Given the description of an element on the screen output the (x, y) to click on. 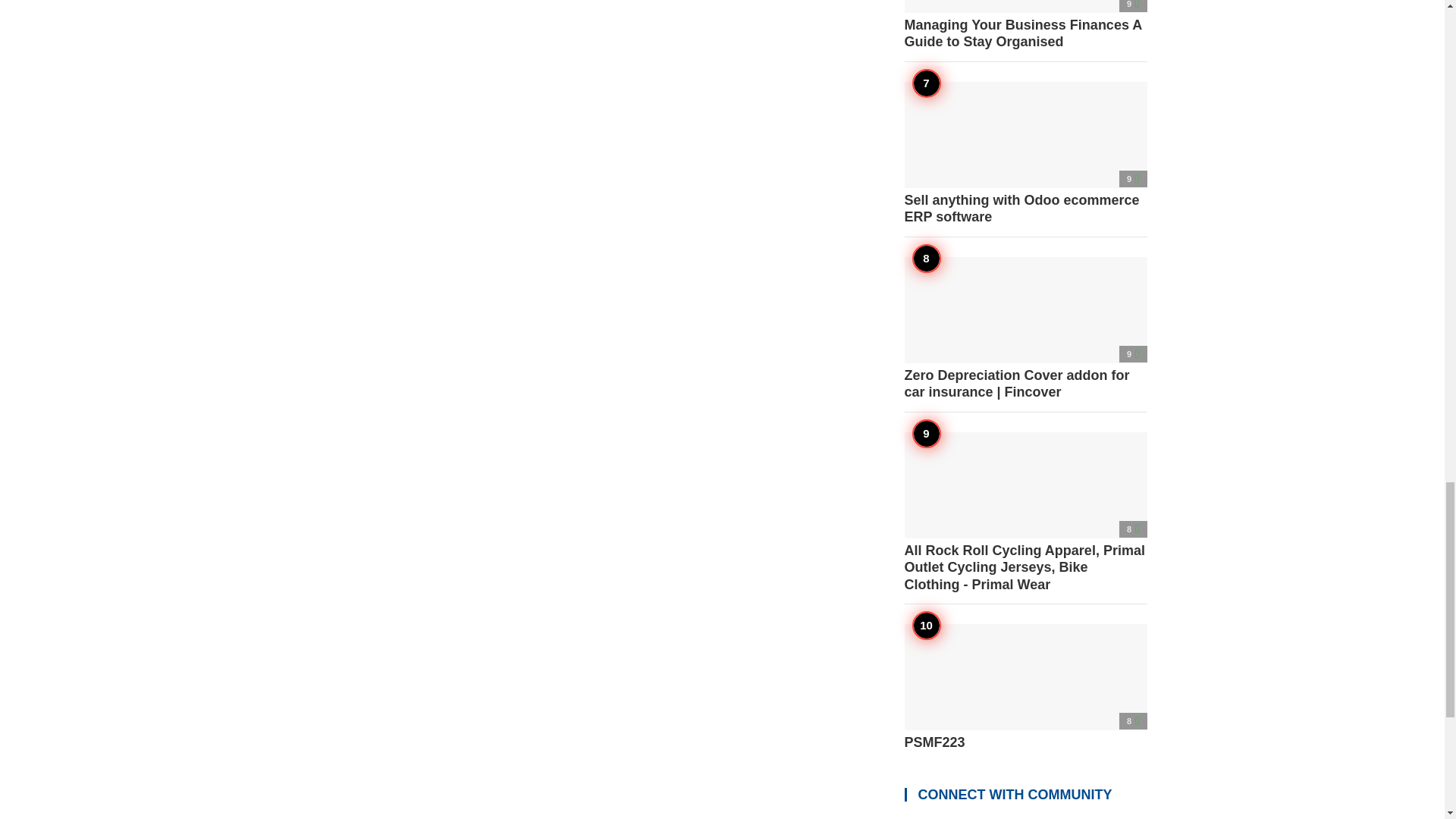
PSMF223 (1025, 687)
Sell anything with Odoo ecommerce ERP software (1025, 153)
Managing Your Business Finances A Guide to Stay Organised (1025, 24)
